Given the description of an element on the screen output the (x, y) to click on. 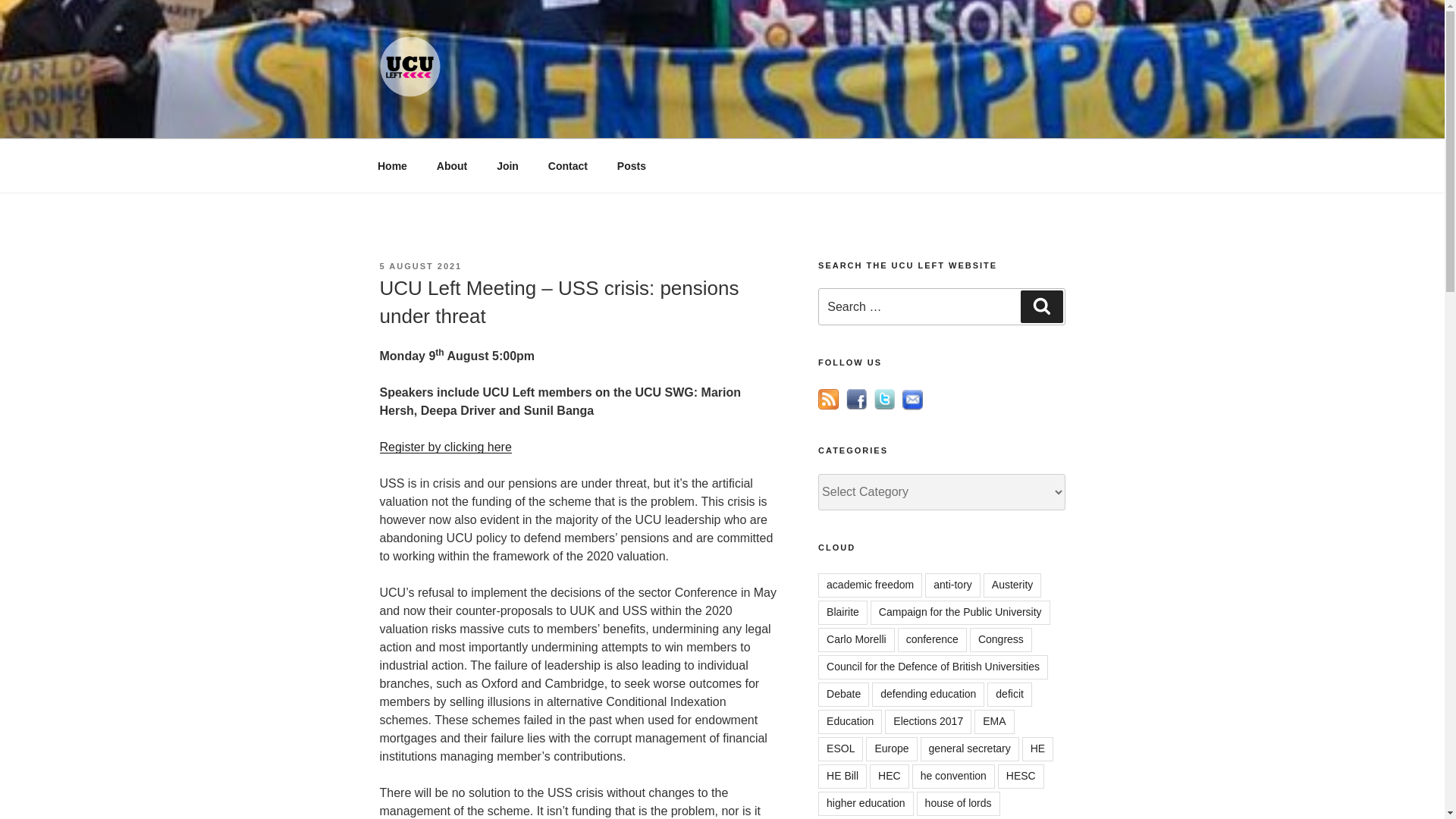
anti-tory (951, 585)
Join (507, 165)
Contact (566, 165)
Search (1041, 306)
Austerity (1012, 585)
5 AUGUST 2021 (419, 266)
Blairite (842, 612)
Posts (631, 165)
Carlo Morelli (856, 639)
Campaign for the Public University (959, 612)
